Given the description of an element on the screen output the (x, y) to click on. 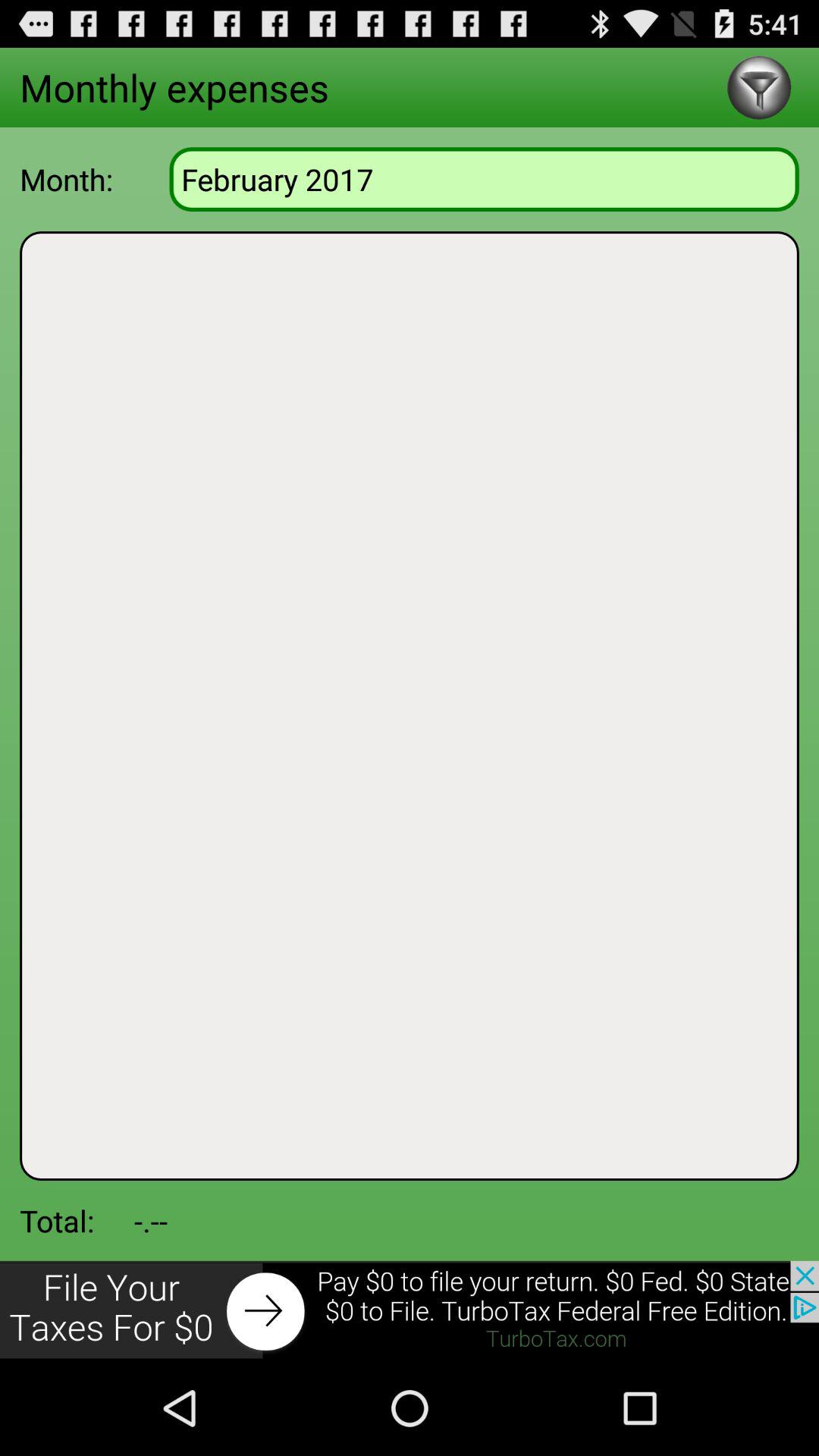
go to advertisement (409, 1310)
